Given the description of an element on the screen output the (x, y) to click on. 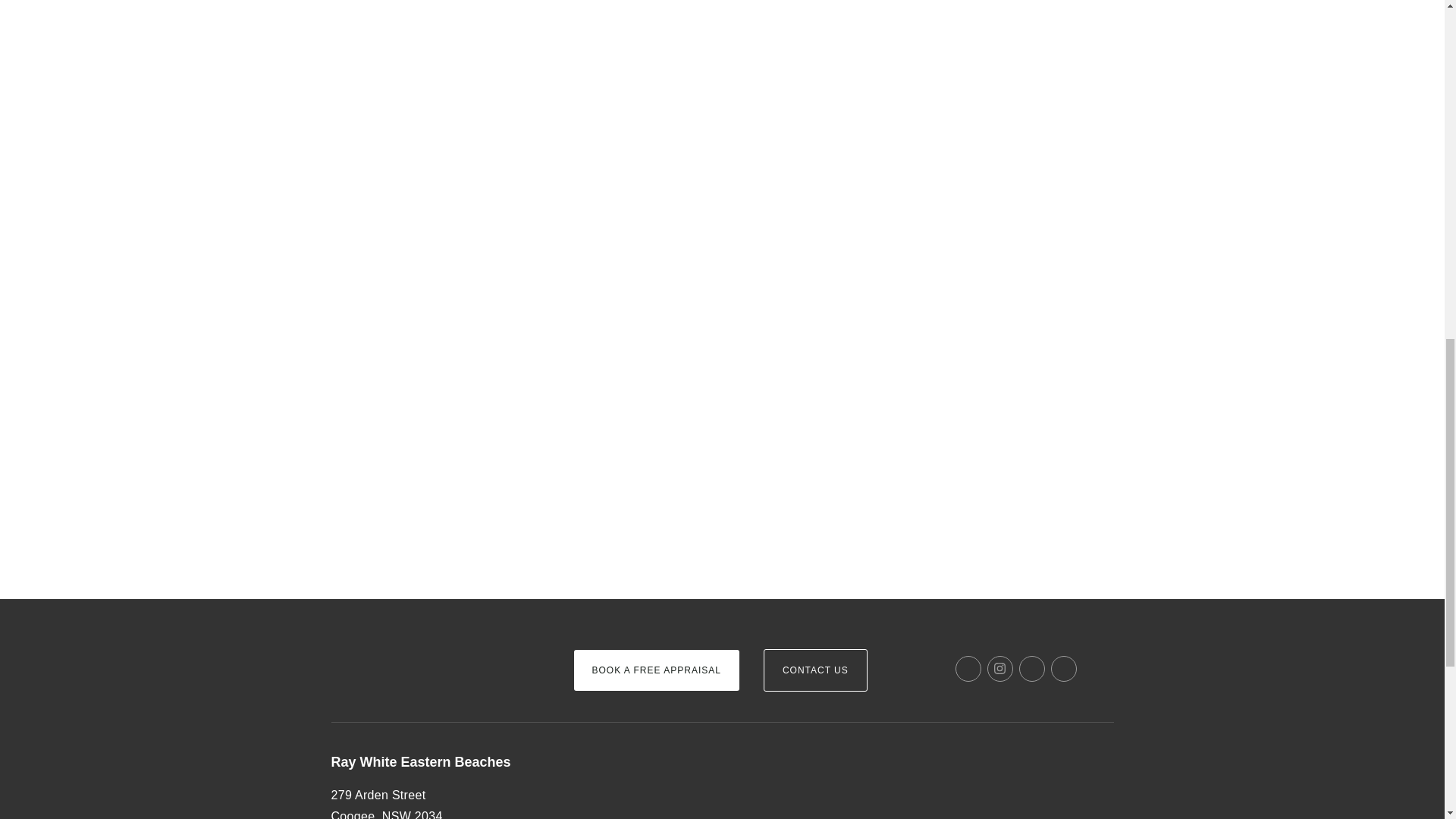
Facebook (968, 668)
LinkedIn (1032, 668)
Ray White (376, 644)
Ray White Eastern Beaches (462, 762)
Instagram (1000, 668)
Youtube (1064, 668)
CONTACT US (814, 670)
BOOK A FREE APPRAISAL (655, 670)
